Given the description of an element on the screen output the (x, y) to click on. 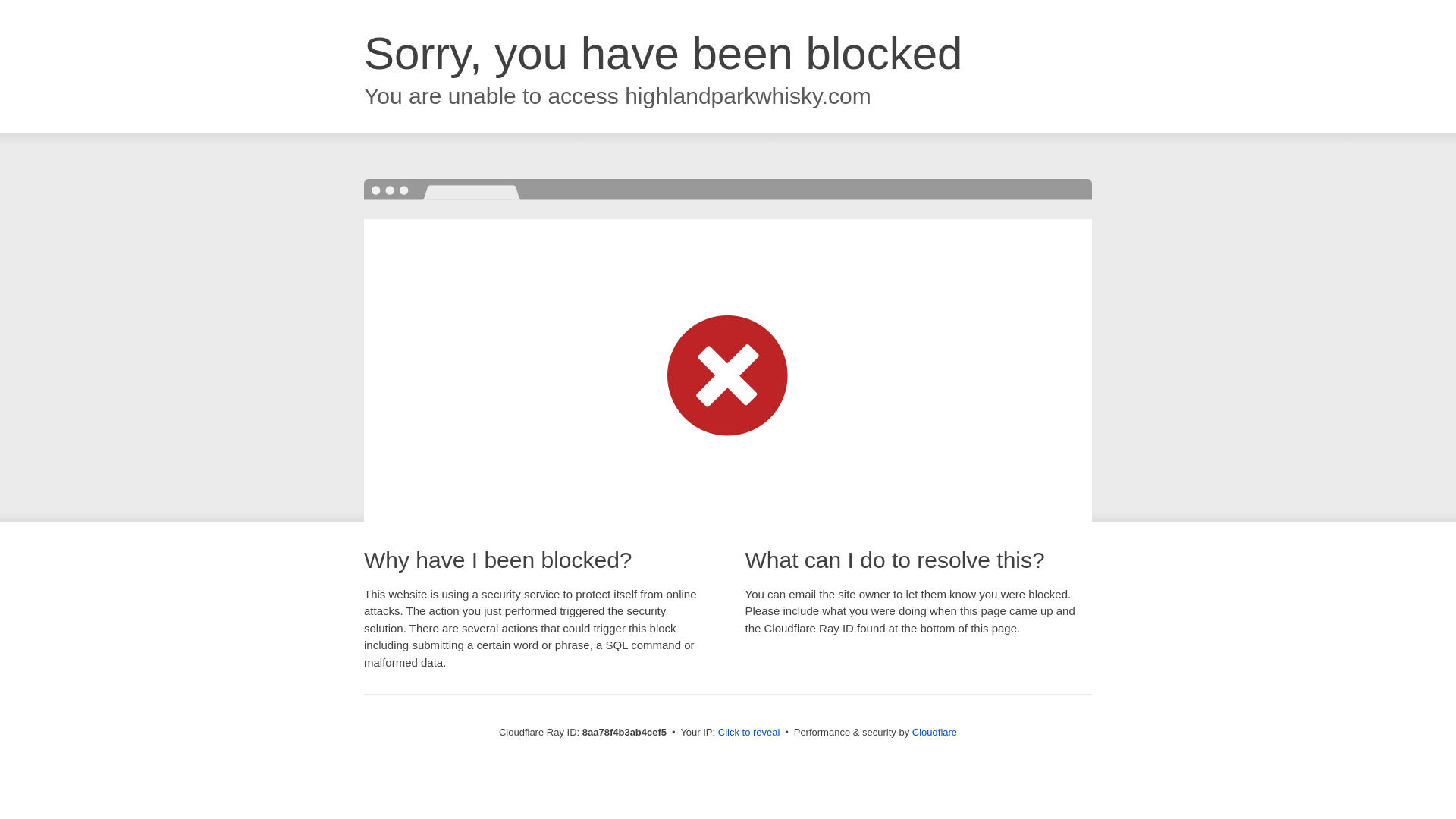
Click to reveal (748, 732)
Cloudflare (934, 731)
